Given the description of an element on the screen output the (x, y) to click on. 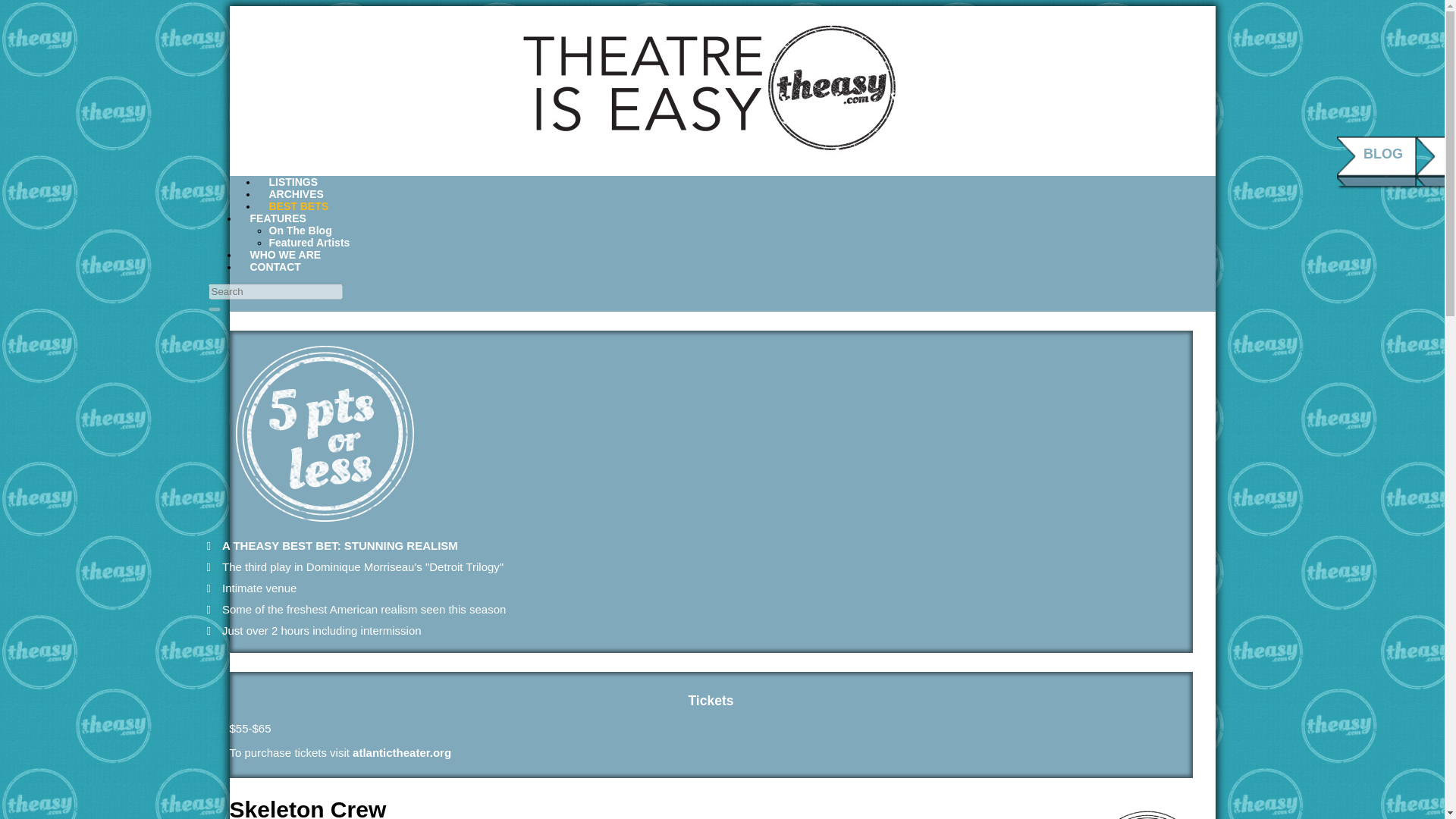
ARCHIVES (295, 193)
BEST BETS (298, 206)
On The Blog (299, 230)
A THEASY BEST BET: STUNNING REALISM (340, 545)
atlantictheater.org (401, 752)
Featured Artists (308, 242)
LISTINGS (293, 181)
CONTACT (274, 266)
WHO WE ARE (284, 254)
BLOG (1382, 153)
FEATURES (277, 217)
